Given the description of an element on the screen output the (x, y) to click on. 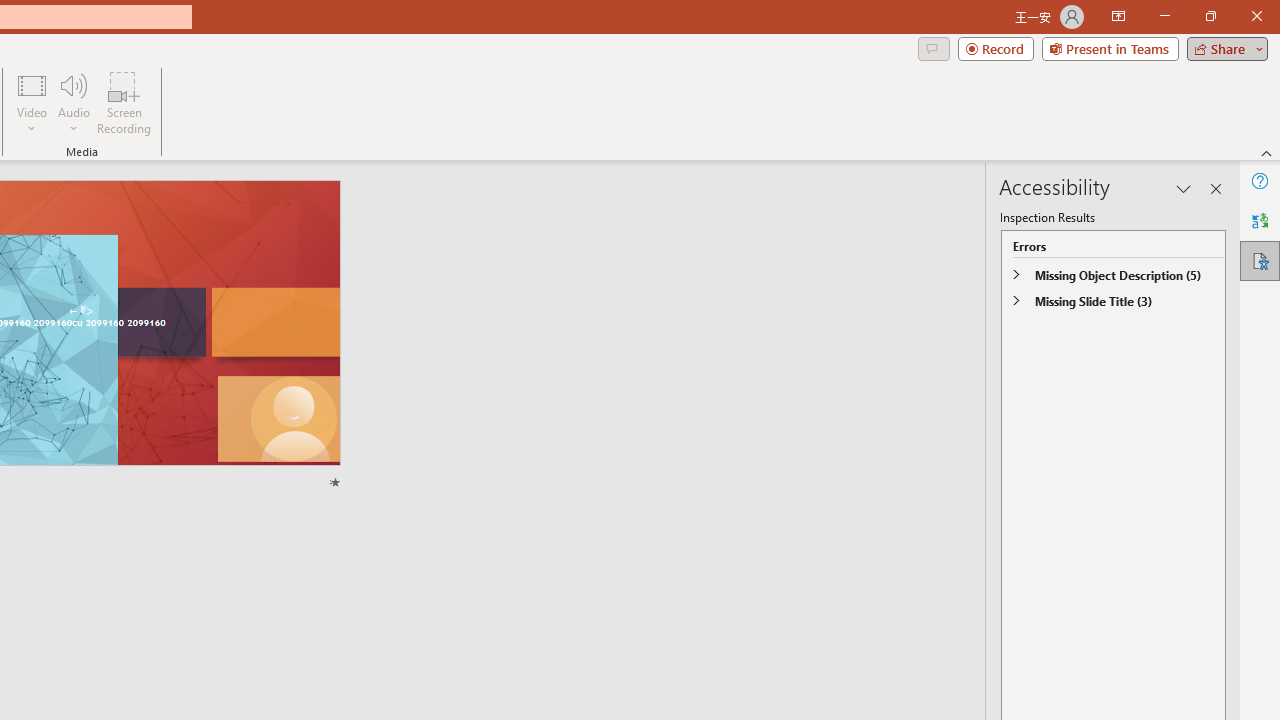
Screen Recording... (123, 102)
Video (31, 102)
